Given the description of an element on the screen output the (x, y) to click on. 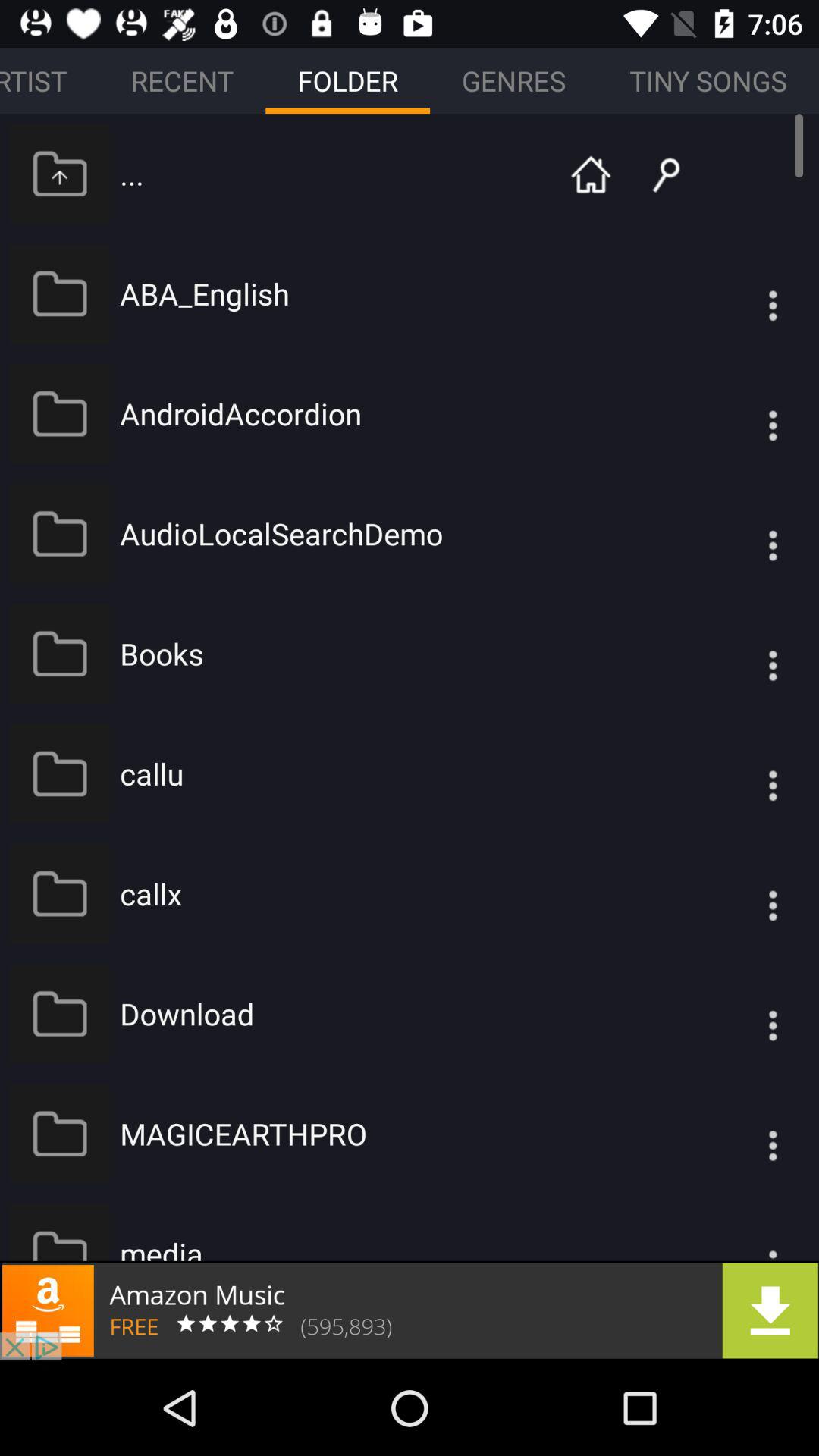
click advertisement (409, 1310)
